Given the description of an element on the screen output the (x, y) to click on. 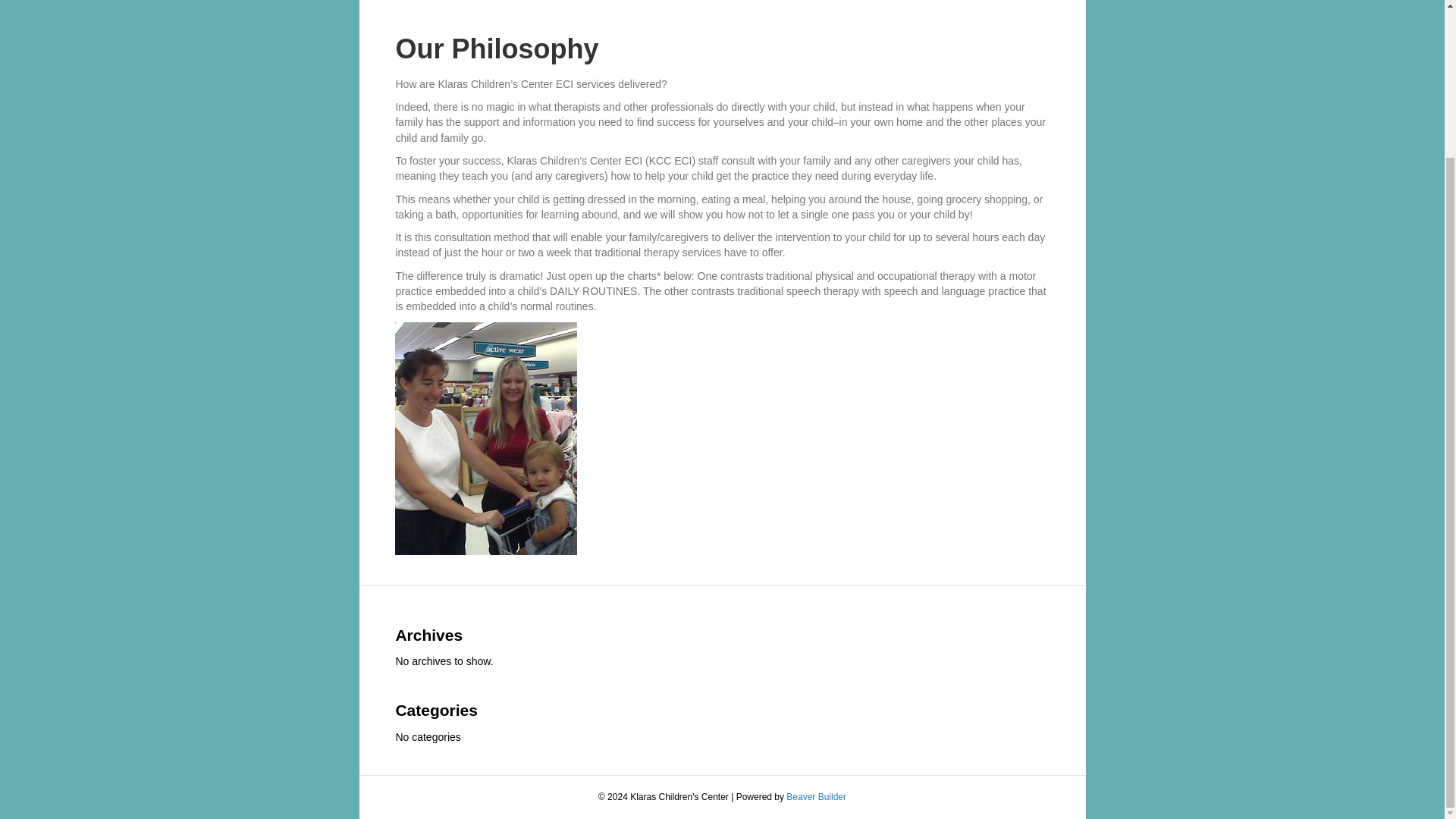
KlarasPhoto04 (485, 438)
WordPress Page Builder Plugin (815, 796)
Beaver Builder (815, 796)
